Given the description of an element on the screen output the (x, y) to click on. 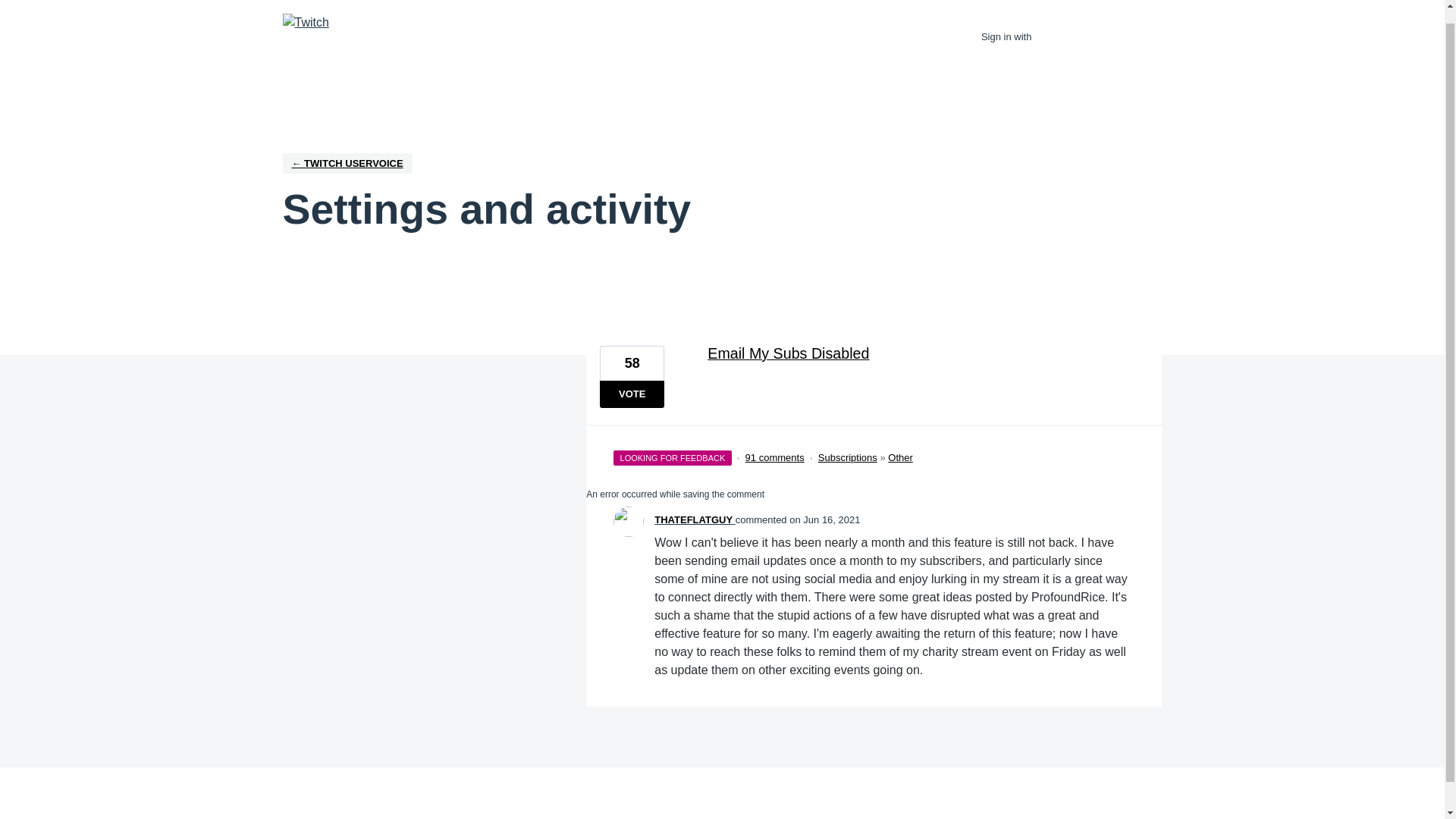
Twitch UserVoice (305, 22)
LOOKING FOR FEEDBACK (671, 455)
Comments for Email My Subs Disabled (775, 457)
VOTE (631, 393)
Twitch UserVoice (347, 163)
Skip to content (12, 5)
Email My Subs Disabled (920, 352)
THATEFLATGUY (694, 519)
Subscriptions (847, 457)
91 comments (775, 457)
Other (900, 457)
